Given the description of an element on the screen output the (x, y) to click on. 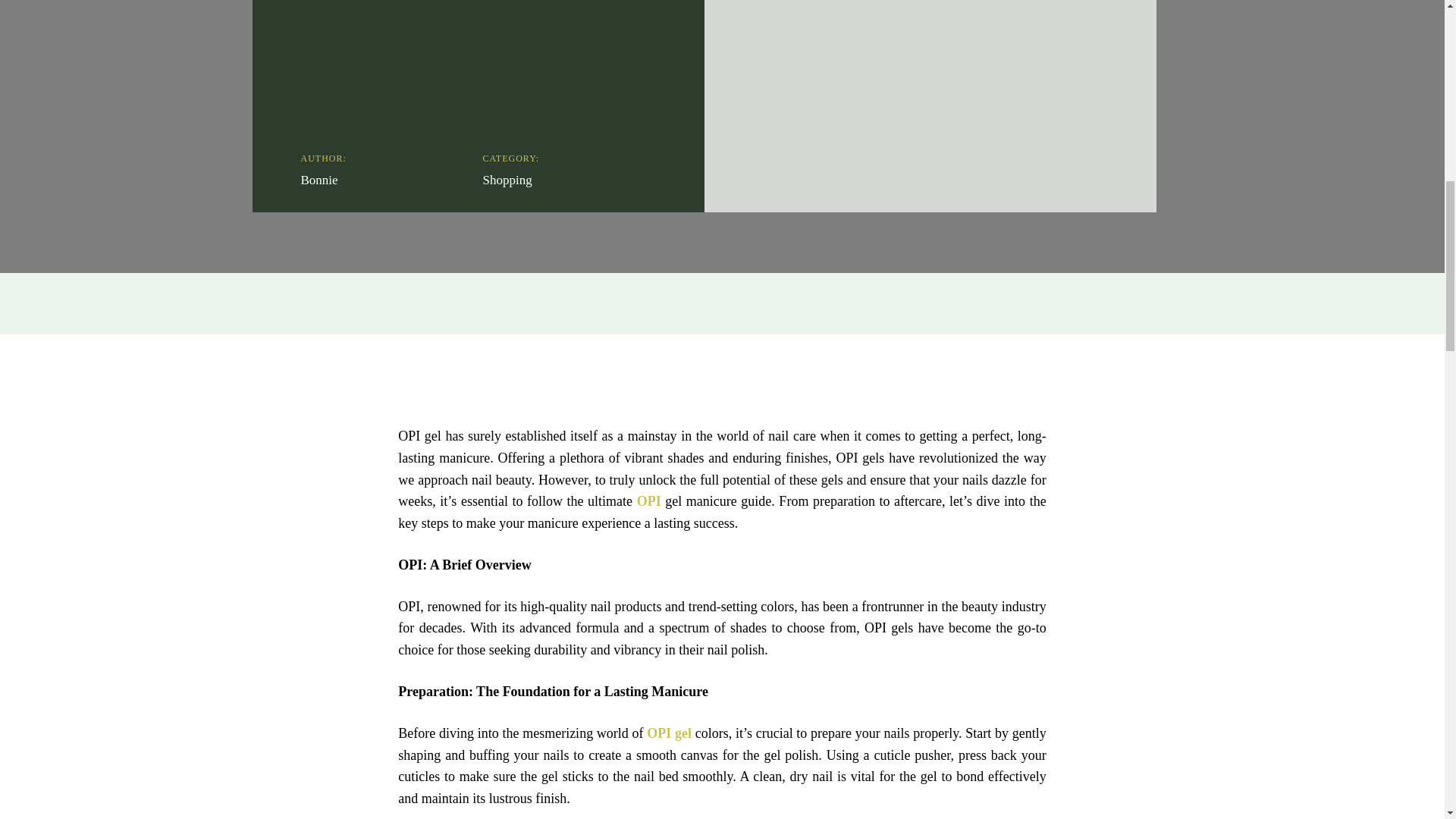
OPI (649, 500)
Shopping (506, 180)
Bonnie (318, 180)
OPI gel (668, 733)
